Given the description of an element on the screen output the (x, y) to click on. 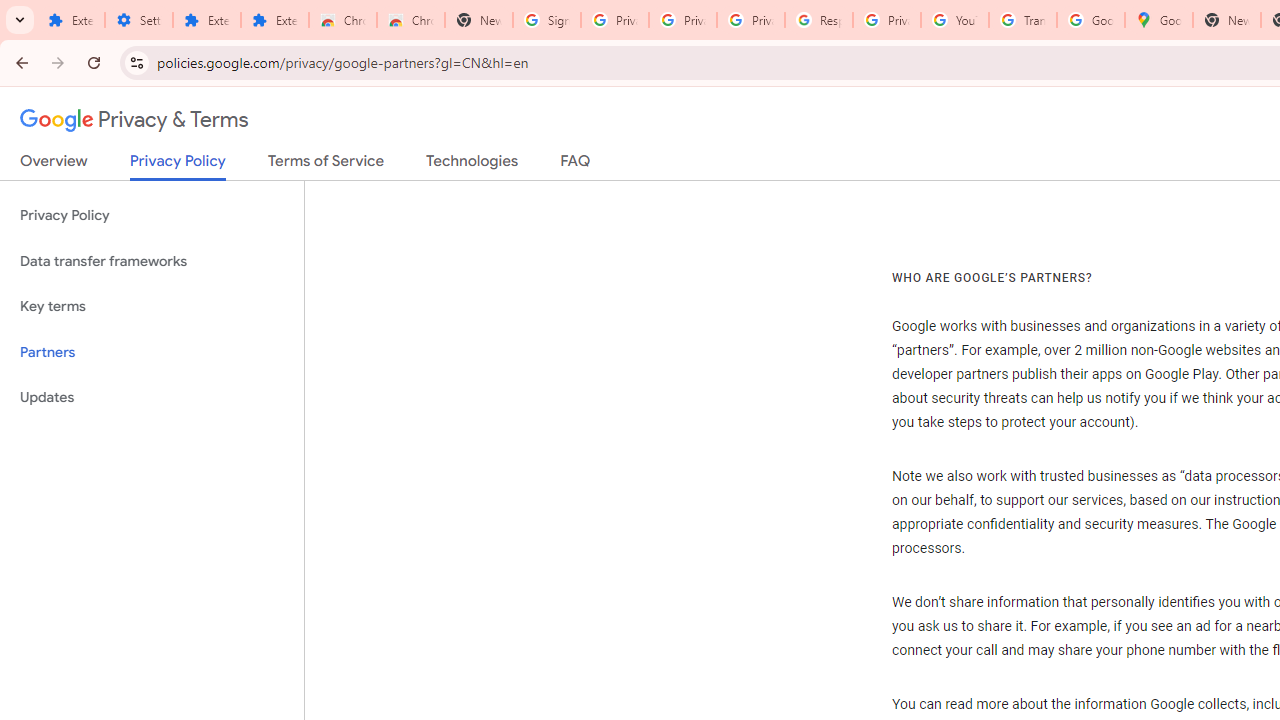
Chrome Web Store (342, 20)
New Tab (1226, 20)
